Given the description of an element on the screen output the (x, y) to click on. 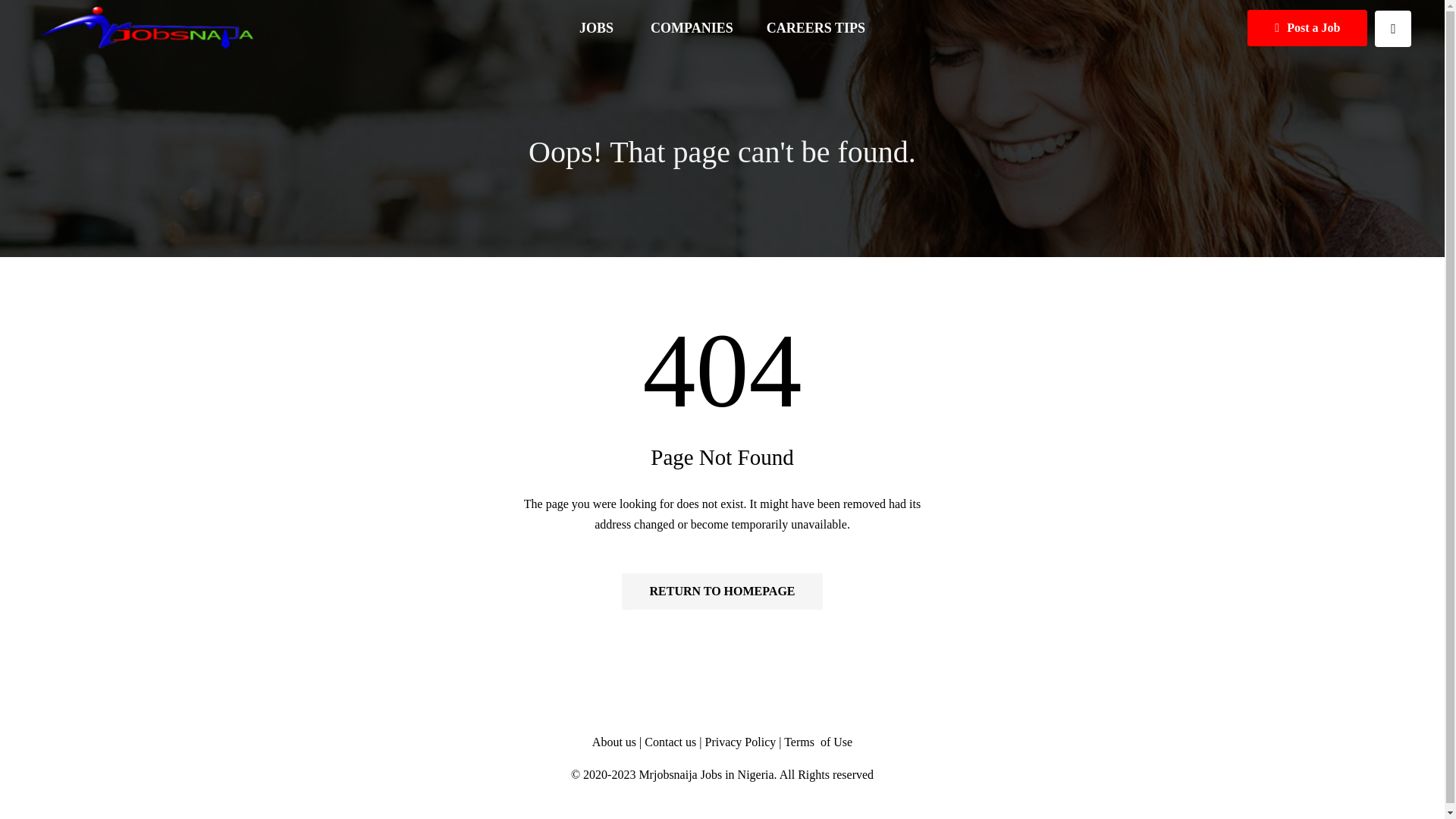
About us (614, 741)
JOBS (597, 27)
Terms  of Use (817, 741)
Post a Job (1307, 27)
Privacy Policy (740, 741)
Home Page (721, 591)
Contact us (671, 741)
RETURN TO HOMEPAGE (721, 591)
CAREERS TIPS (815, 27)
COMPANIES (691, 27)
